Given the description of an element on the screen output the (x, y) to click on. 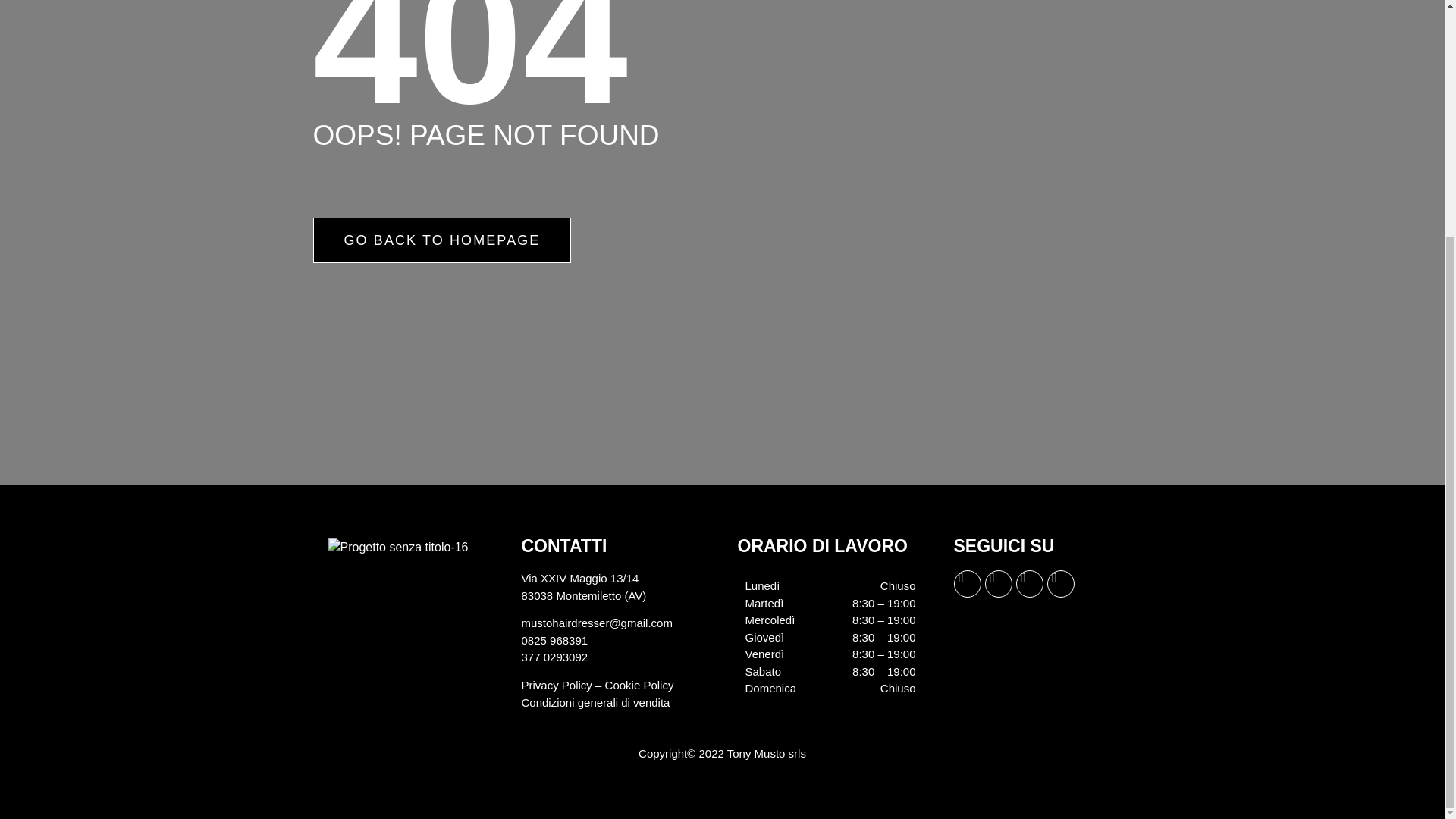
Cookie Policy (639, 684)
Condizioni generali di vendita (595, 702)
377 0293092 (554, 656)
GO BACK TO HOMEPAGE (441, 239)
Privacy Policy (556, 684)
0825 968391 (554, 640)
Progetto senza titolo-16 (397, 547)
